Given the description of an element on the screen output the (x, y) to click on. 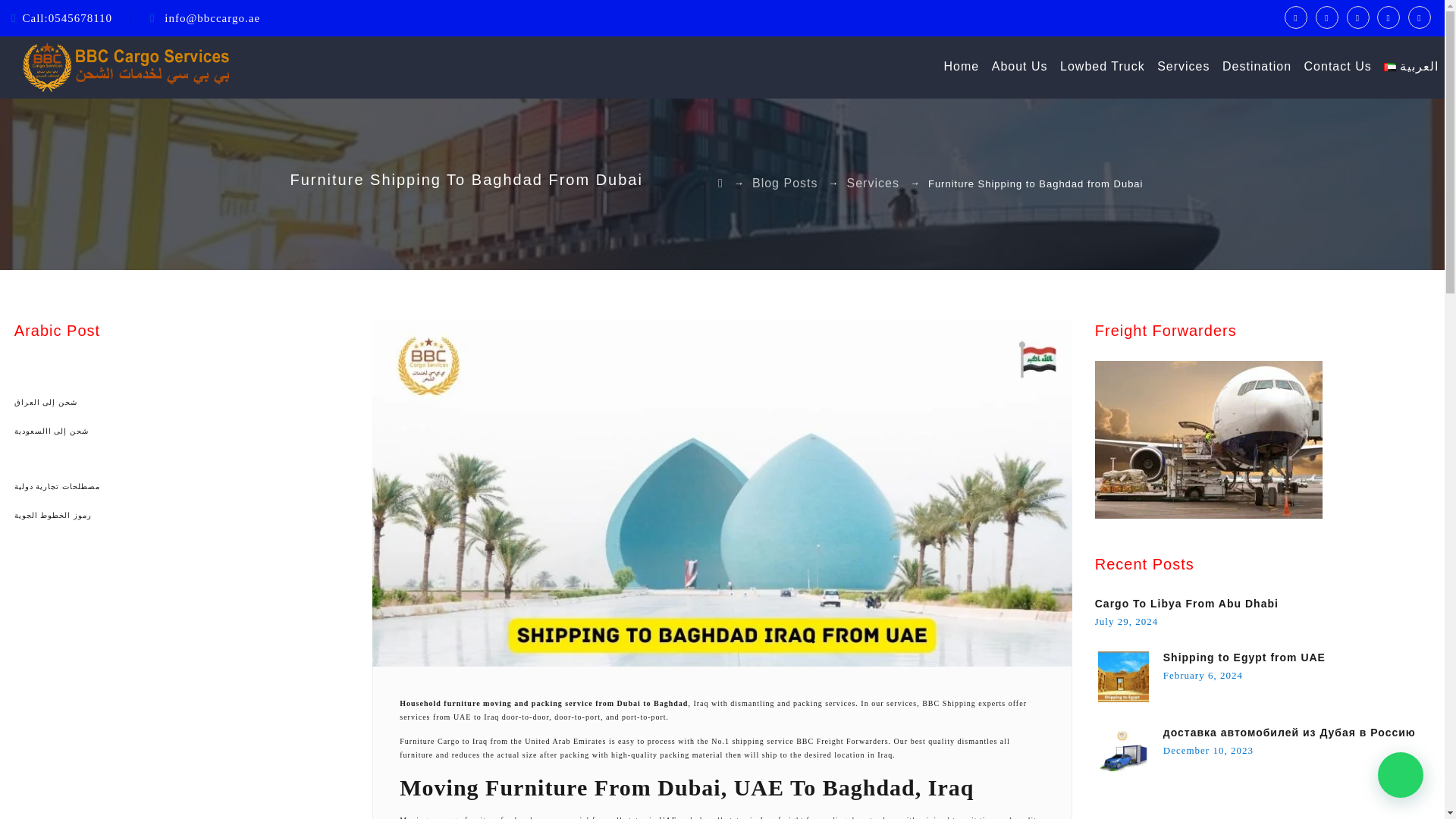
About Us (1019, 66)
Lowbed Truck (1101, 66)
Go to Blog Posts. (784, 182)
Go to the Services category archives. (873, 182)
Destination (1257, 66)
Shipping to Egypt from UAE 11 (1122, 676)
